Given the description of an element on the screen output the (x, y) to click on. 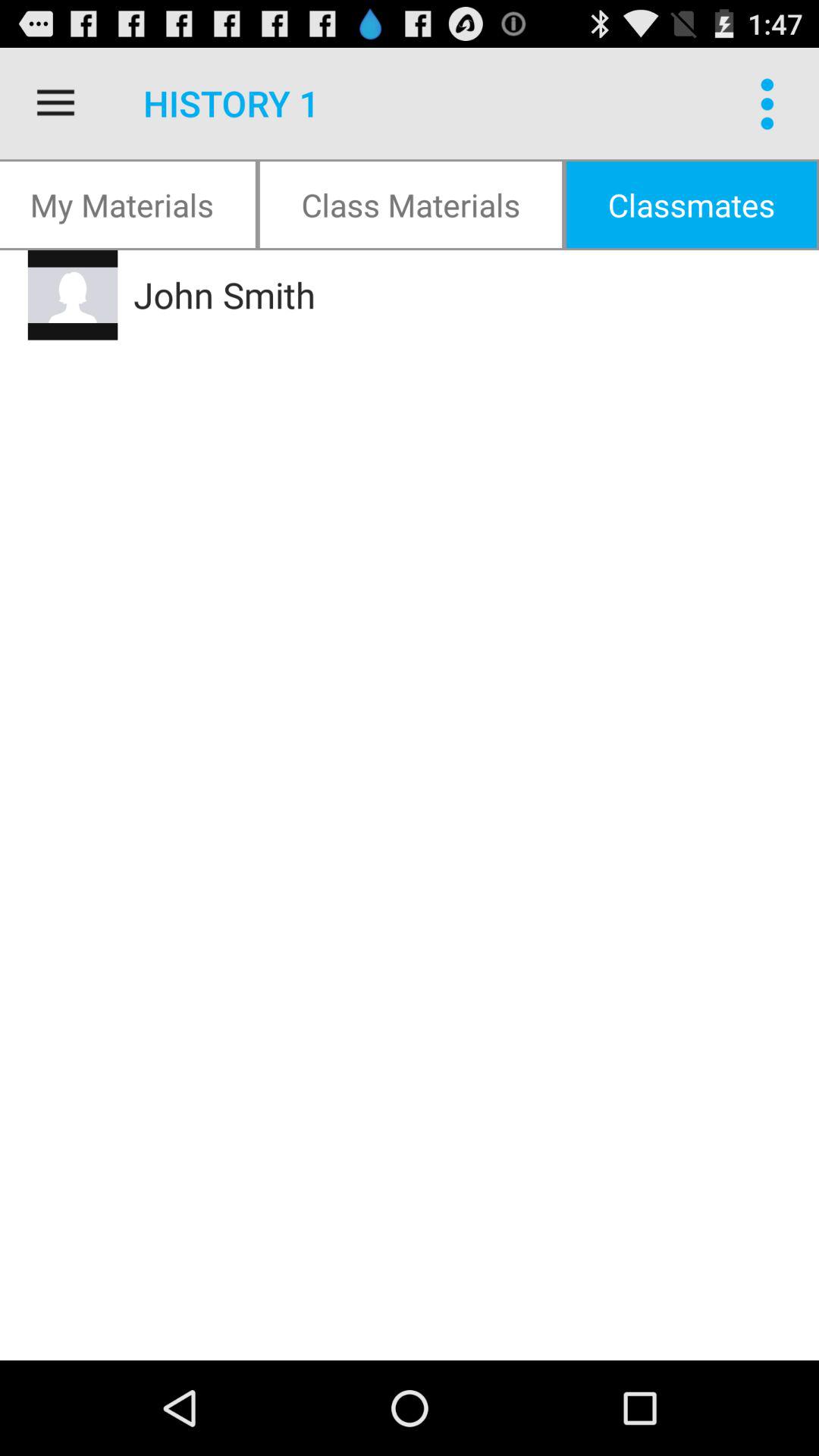
choose the item next to classmates (410, 204)
